Given the description of an element on the screen output the (x, y) to click on. 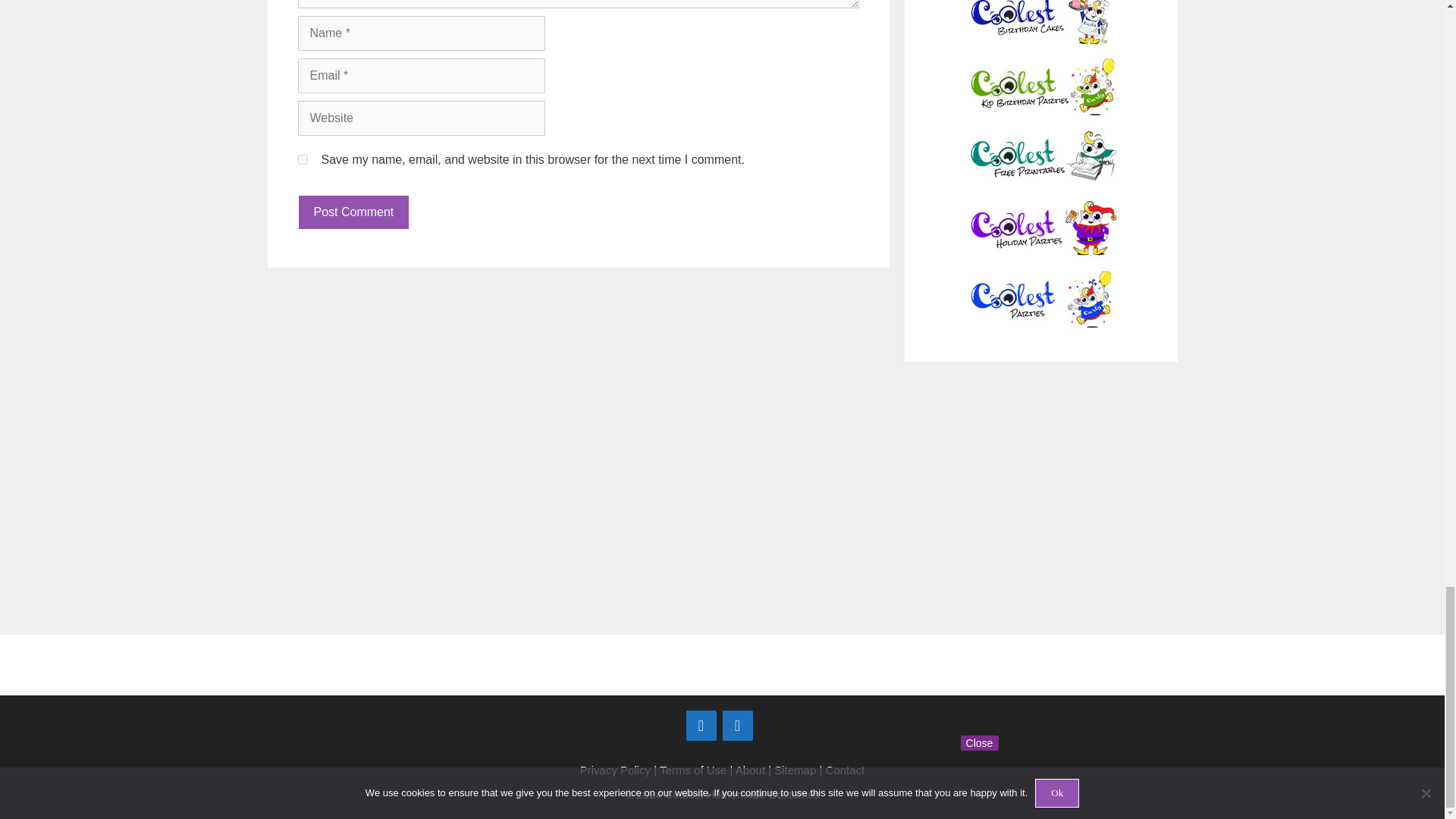
Facebook (700, 725)
Post Comment (353, 212)
yes (302, 159)
